Given the description of an element on the screen output the (x, y) to click on. 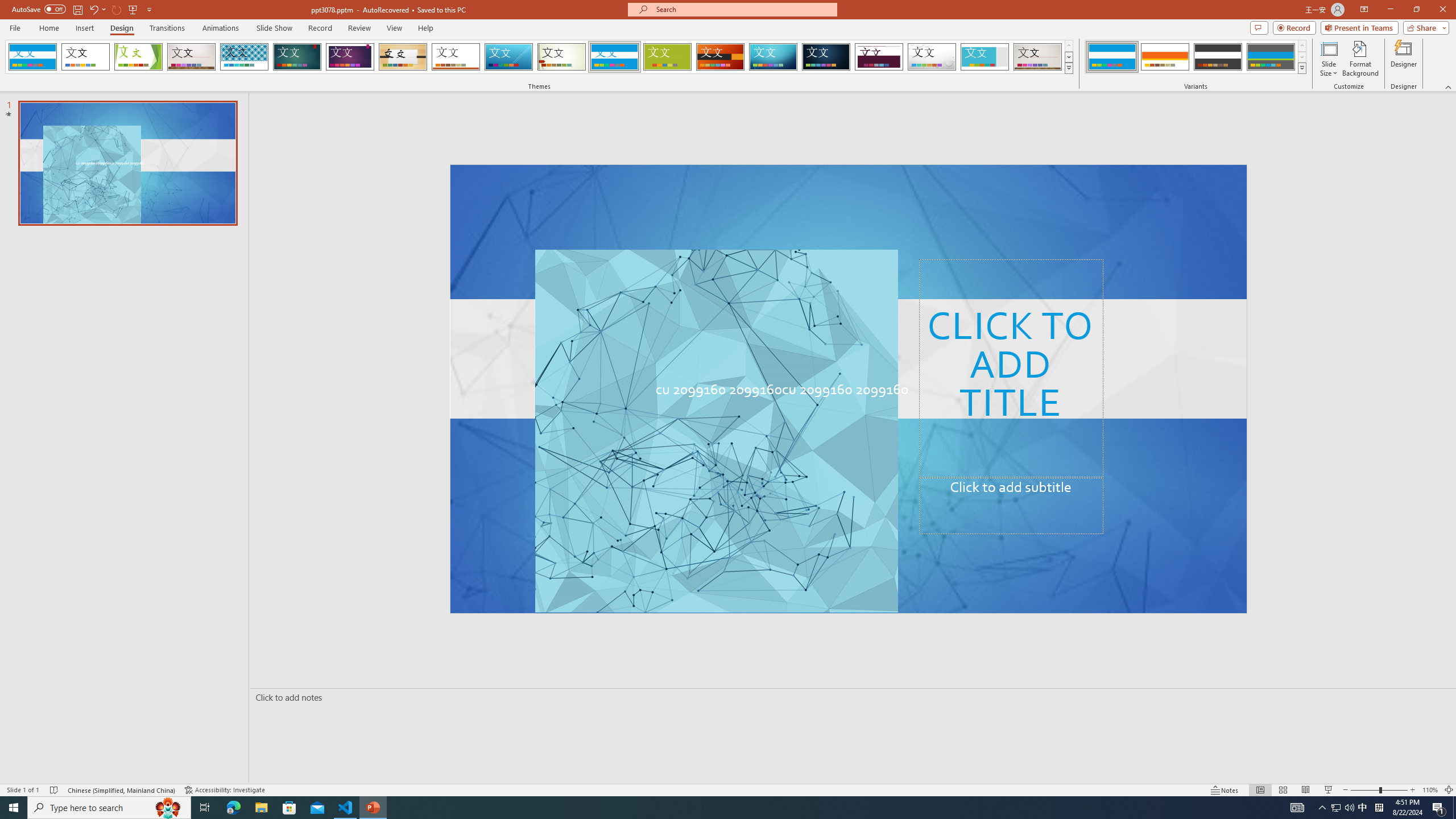
Slice (508, 56)
Wisp (561, 56)
Facet (138, 56)
AutomationID: ThemeVariantsGallery (1195, 56)
Banded Variant 2 (1164, 56)
Basis (667, 56)
Berlin (720, 56)
